Given the description of an element on the screen output the (x, y) to click on. 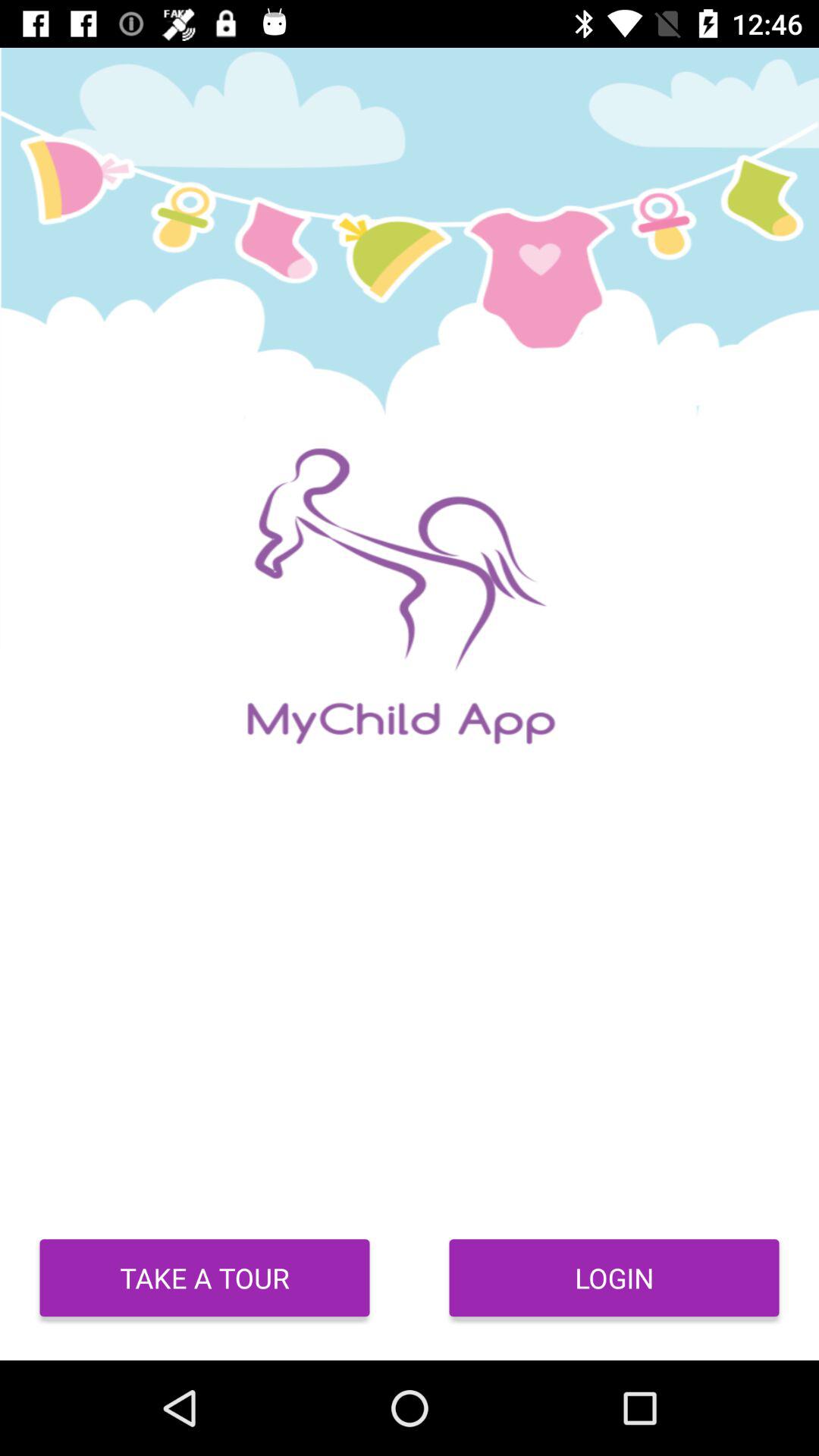
click item to the left of login icon (204, 1277)
